Given the description of an element on the screen output the (x, y) to click on. 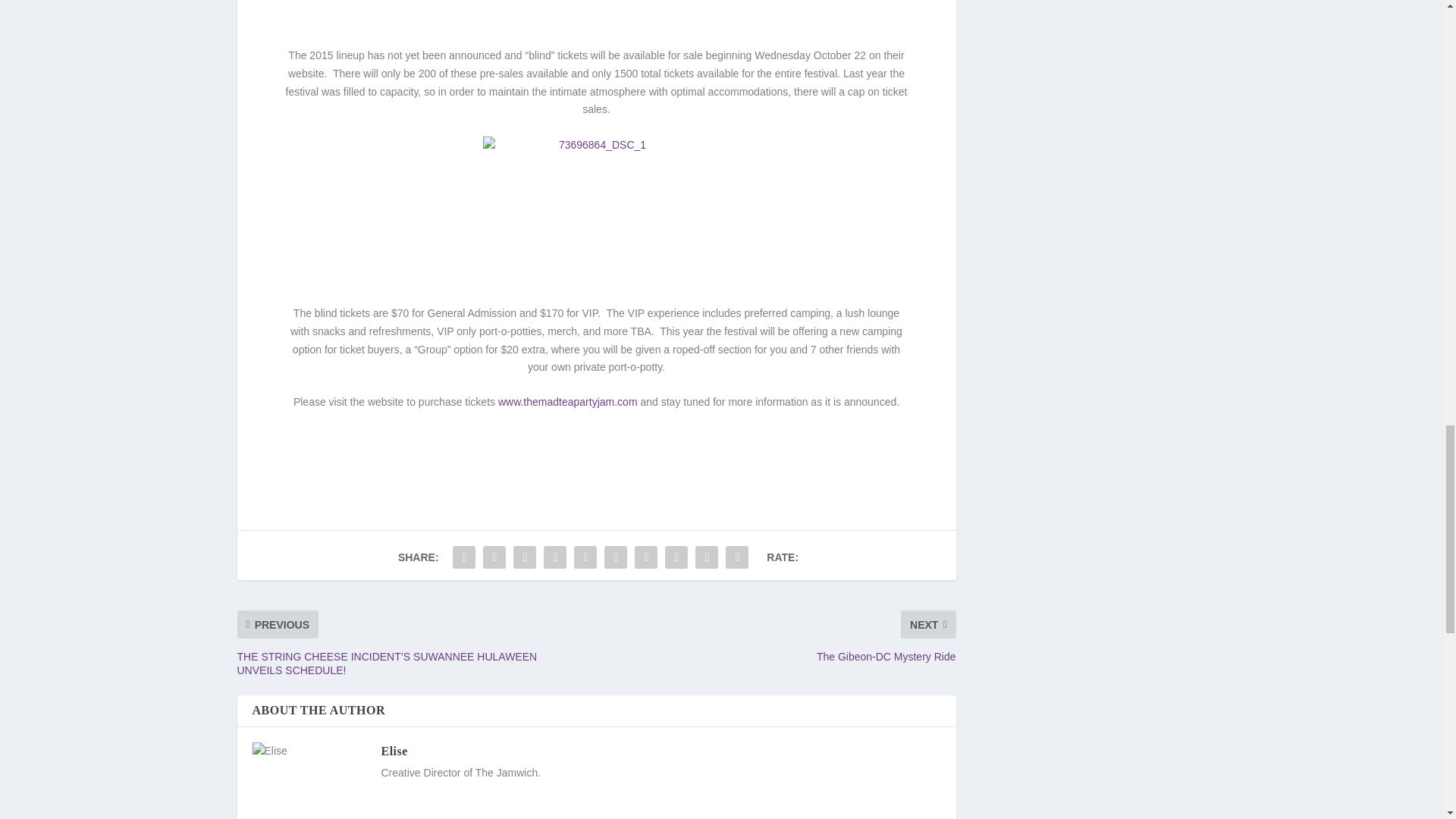
Share "The Mad Tea Party Jam Announces 2015 Dates" via Email (706, 557)
